Given the description of an element on the screen output the (x, y) to click on. 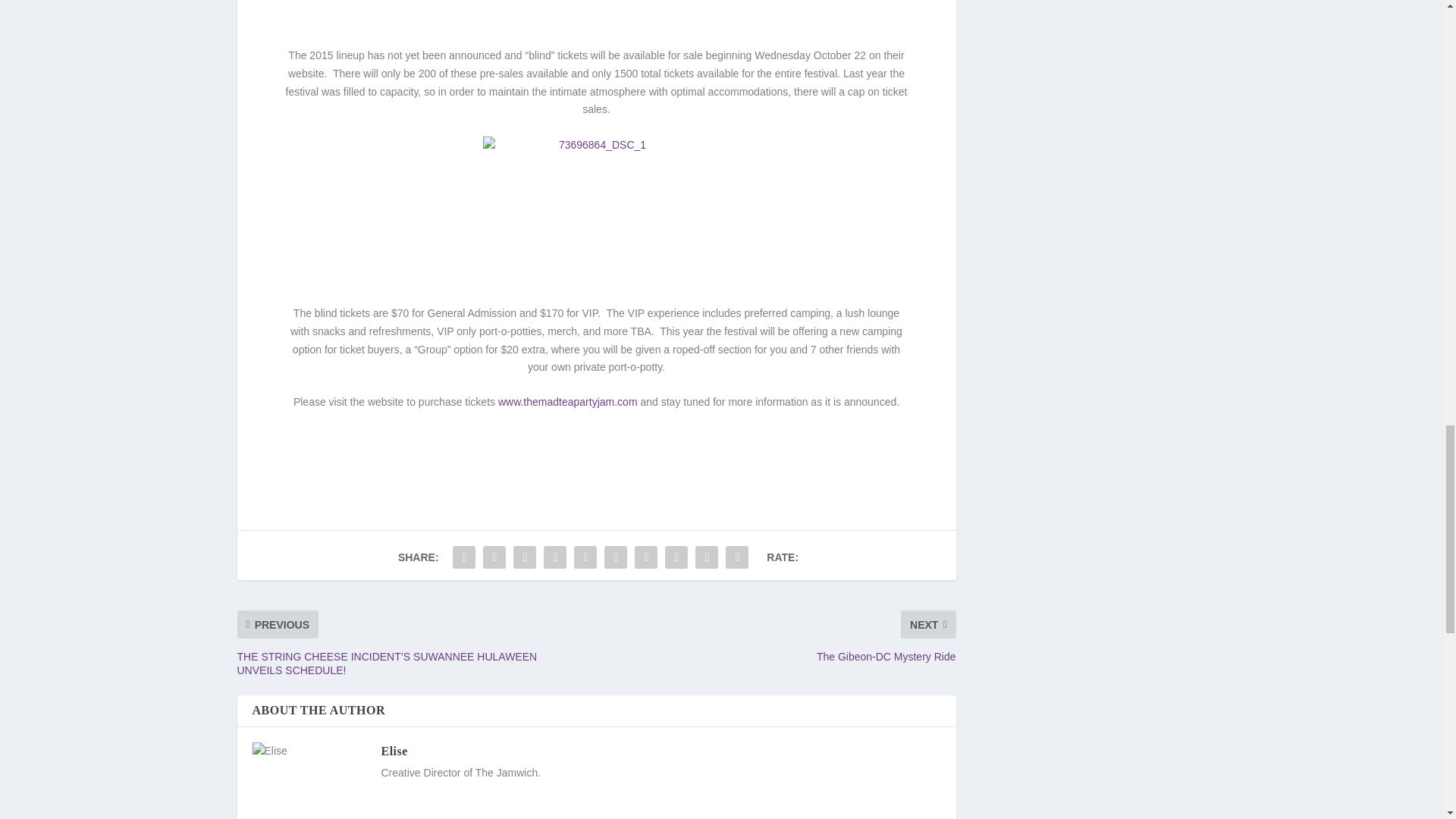
Share "The Mad Tea Party Jam Announces 2015 Dates" via Email (706, 557)
